Given the description of an element on the screen output the (x, y) to click on. 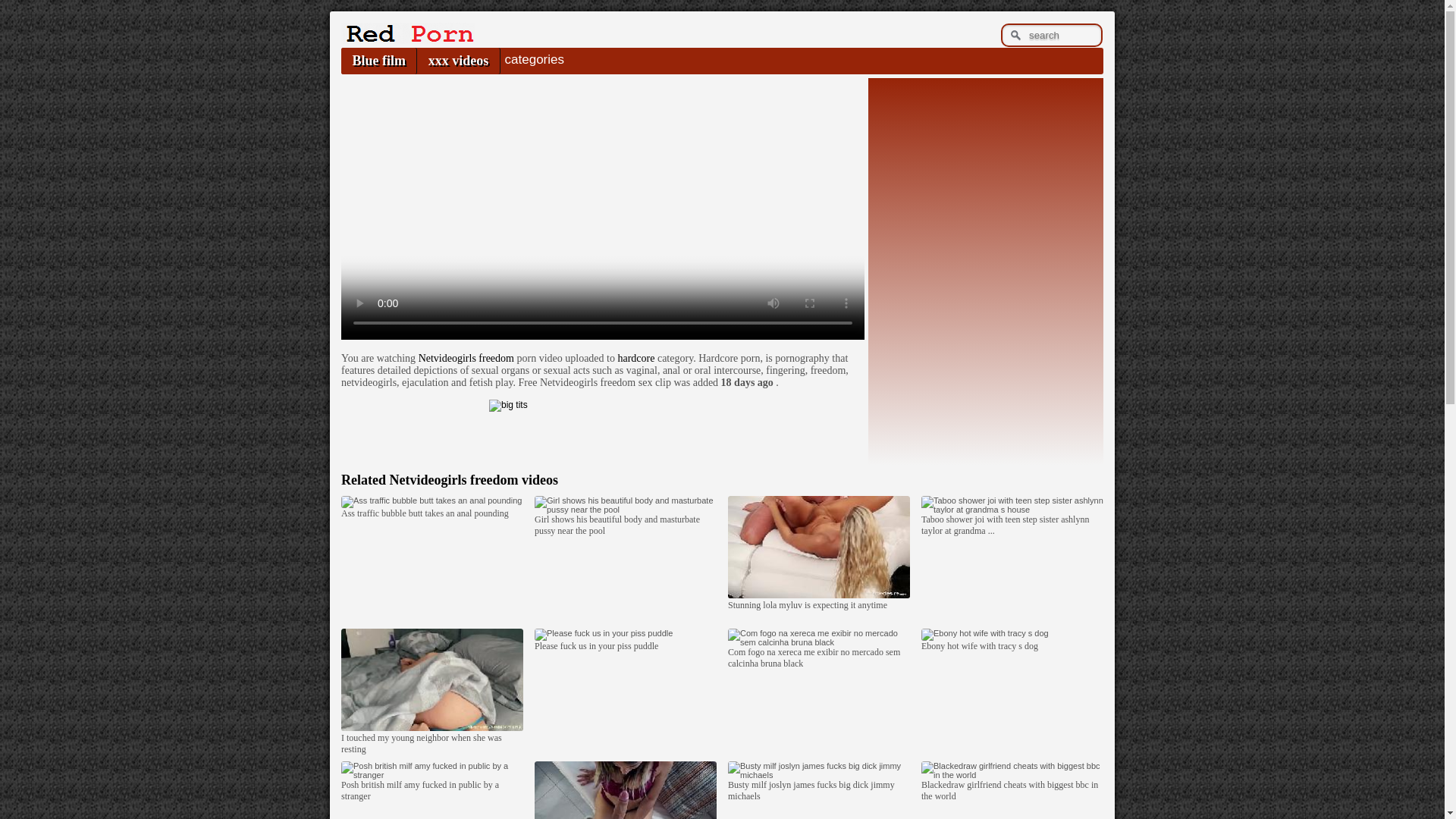
Indian Porn (407, 39)
Blue film (378, 60)
Netvideogirls freedom videos (472, 479)
hardcore (635, 357)
Blue film (378, 60)
xxx videos (457, 60)
Netvideogirls freedom (466, 357)
categories (533, 59)
tiktok porn (602, 422)
Netvideogirls freedom (466, 357)
xxx videos (457, 60)
hardcore (635, 357)
Netvideogirls freedom (472, 479)
